Given the description of an element on the screen output the (x, y) to click on. 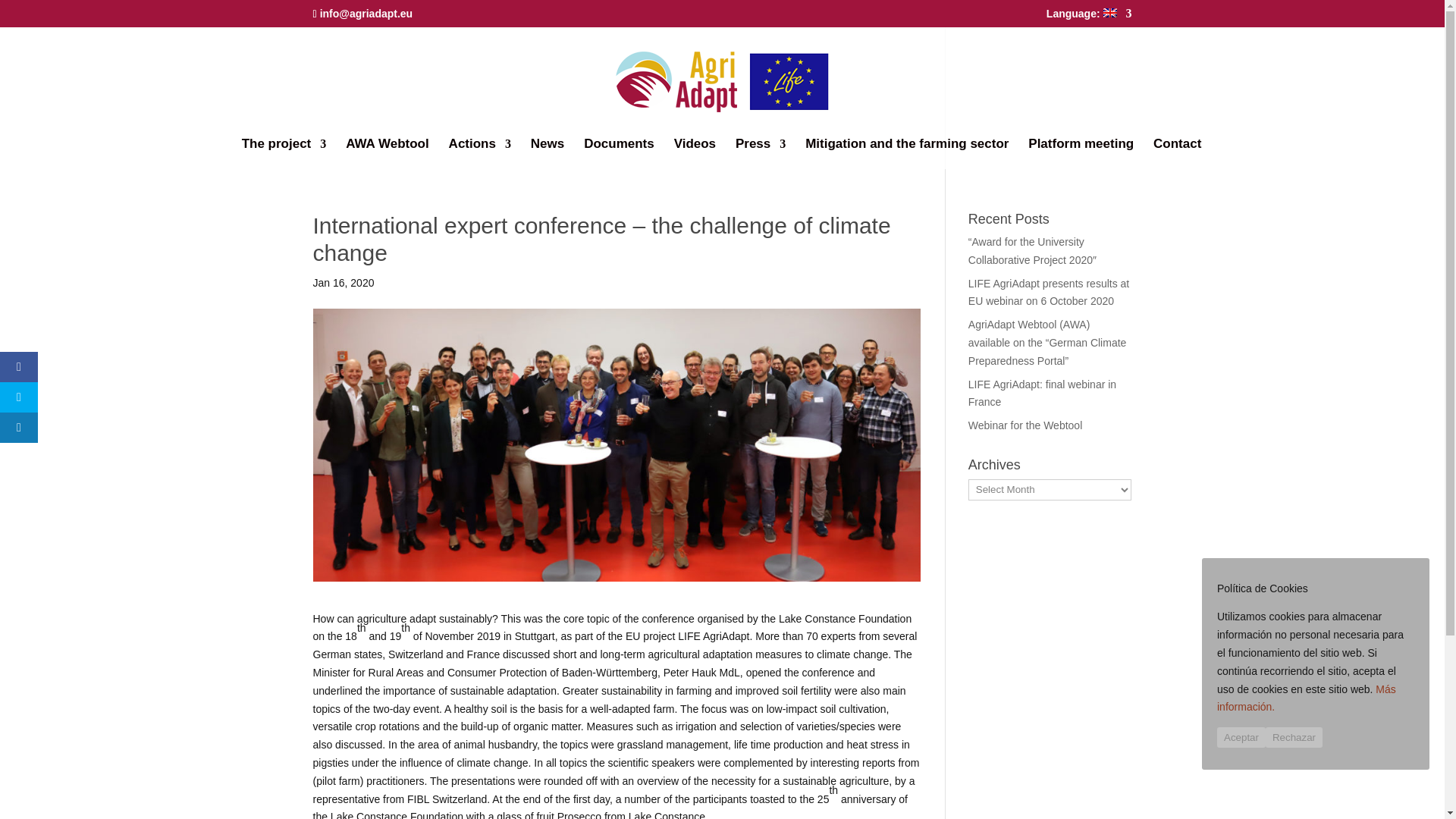
AWA Webtool (387, 153)
Actions (479, 153)
Documents (618, 153)
The project (283, 153)
Press (760, 153)
News (547, 153)
English (1089, 16)
Language:  (1089, 16)
Videos (695, 153)
